Given the description of an element on the screen output the (x, y) to click on. 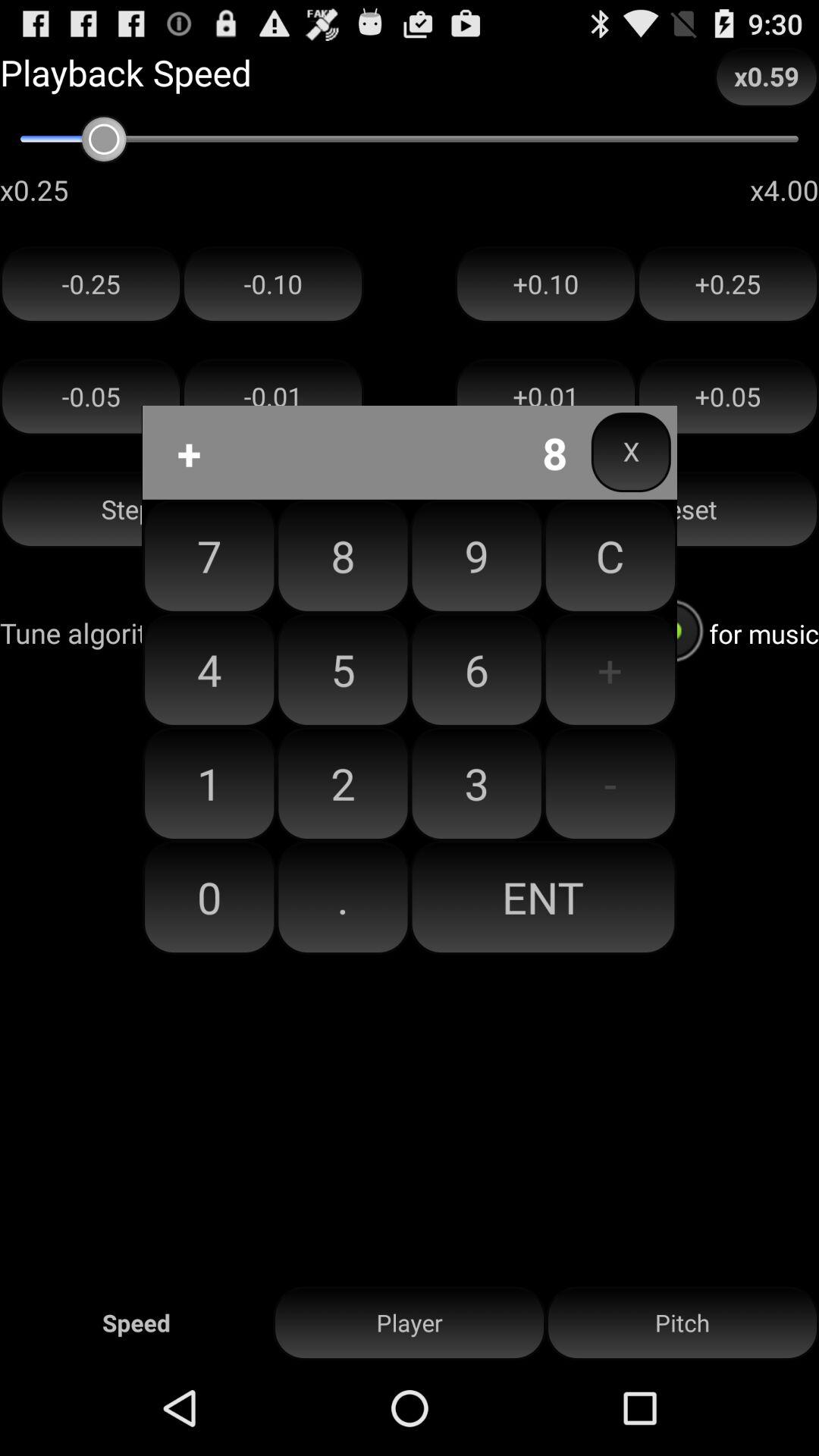
turn on item below 1 icon (208, 897)
